Given the description of an element on the screen output the (x, y) to click on. 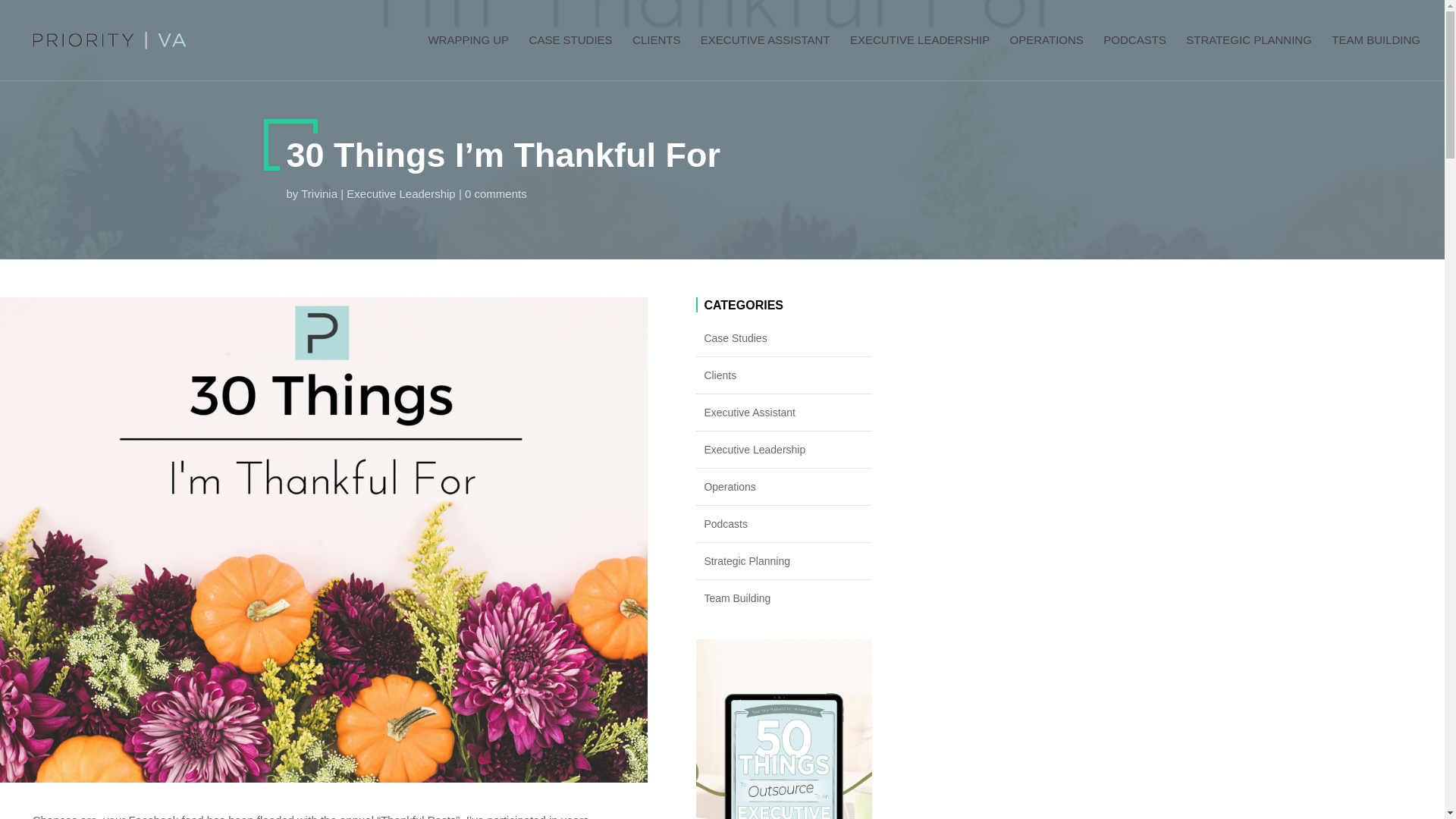
EXECUTIVE LEADERSHIP (920, 54)
TEAM BUILDING (1376, 54)
OPERATIONS (1046, 54)
Podcasts (783, 523)
CASE STUDIES (570, 54)
EXECUTIVE ASSISTANT (764, 54)
Strategic Planning (783, 560)
STRATEGIC PLANNING (1248, 54)
PODCASTS (1134, 54)
Clients (783, 374)
